Given the description of an element on the screen output the (x, y) to click on. 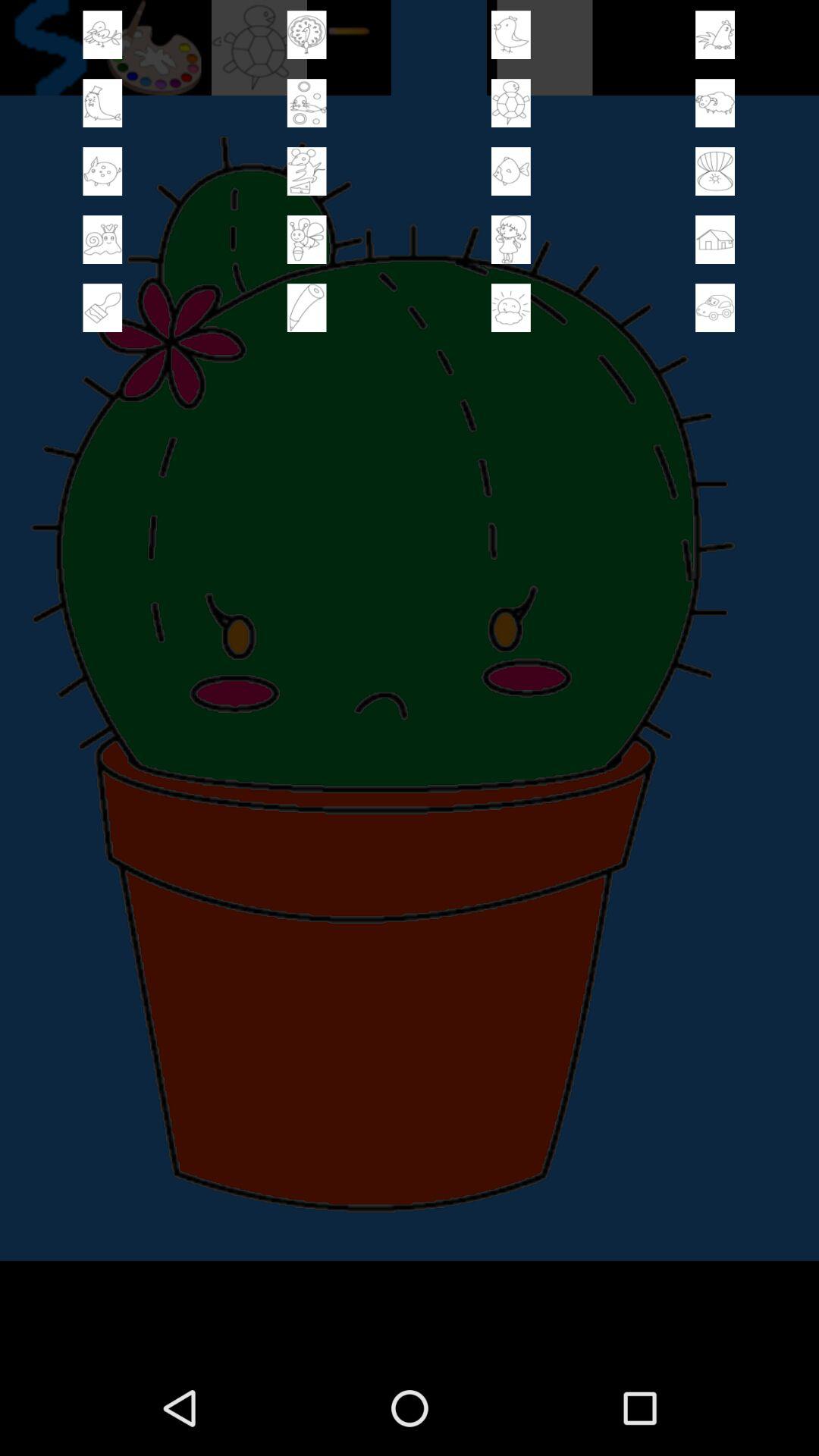
draw (306, 307)
